Given the description of an element on the screen output the (x, y) to click on. 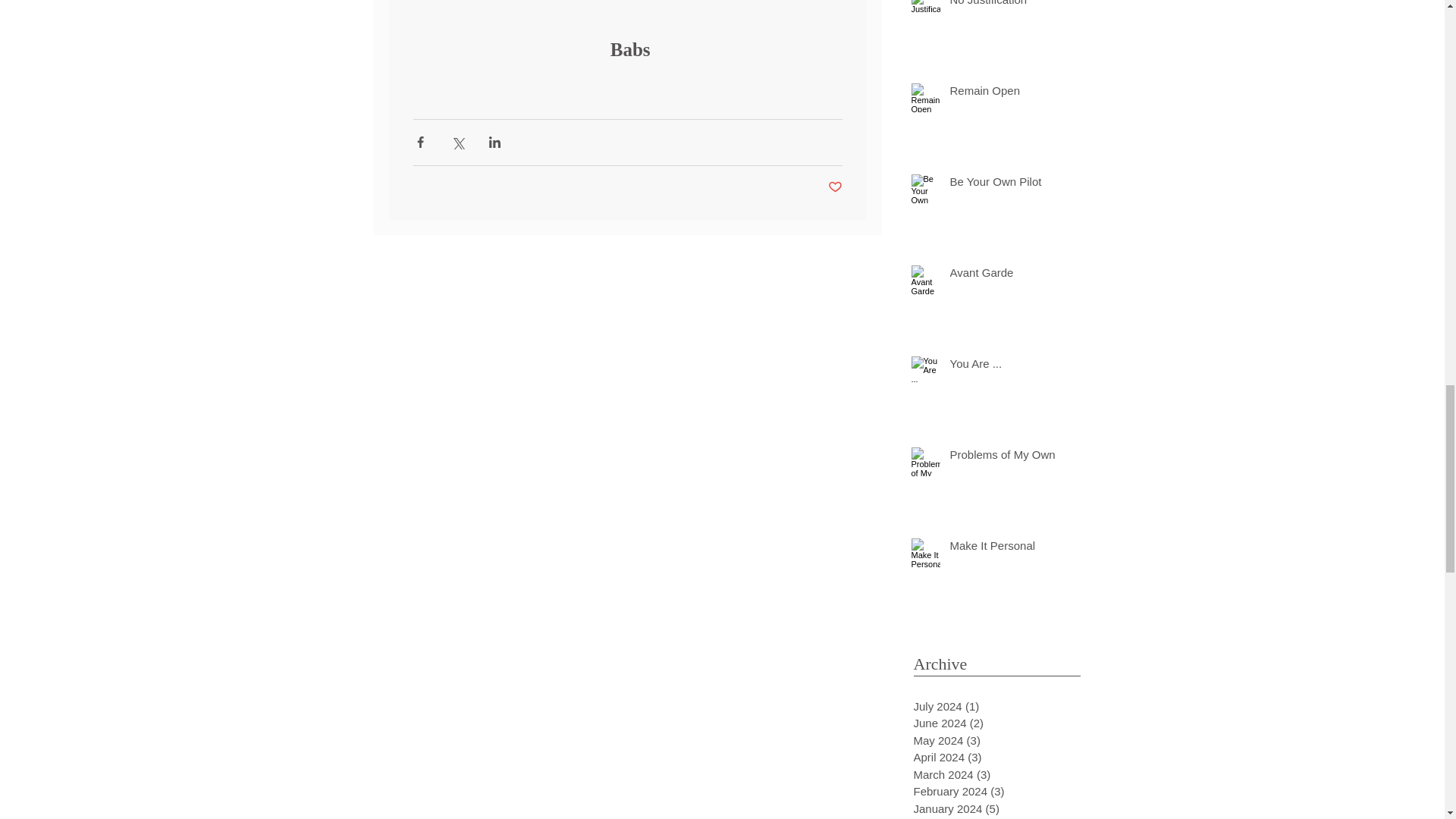
Make It Personal (1003, 548)
Problems of My Own (1003, 457)
Post not marked as liked (835, 187)
Remain Open (1003, 93)
You Are ... (1003, 366)
Avant Garde (1003, 275)
No Justification (1003, 6)
Be Your Own Pilot (1003, 184)
